Given the description of an element on the screen output the (x, y) to click on. 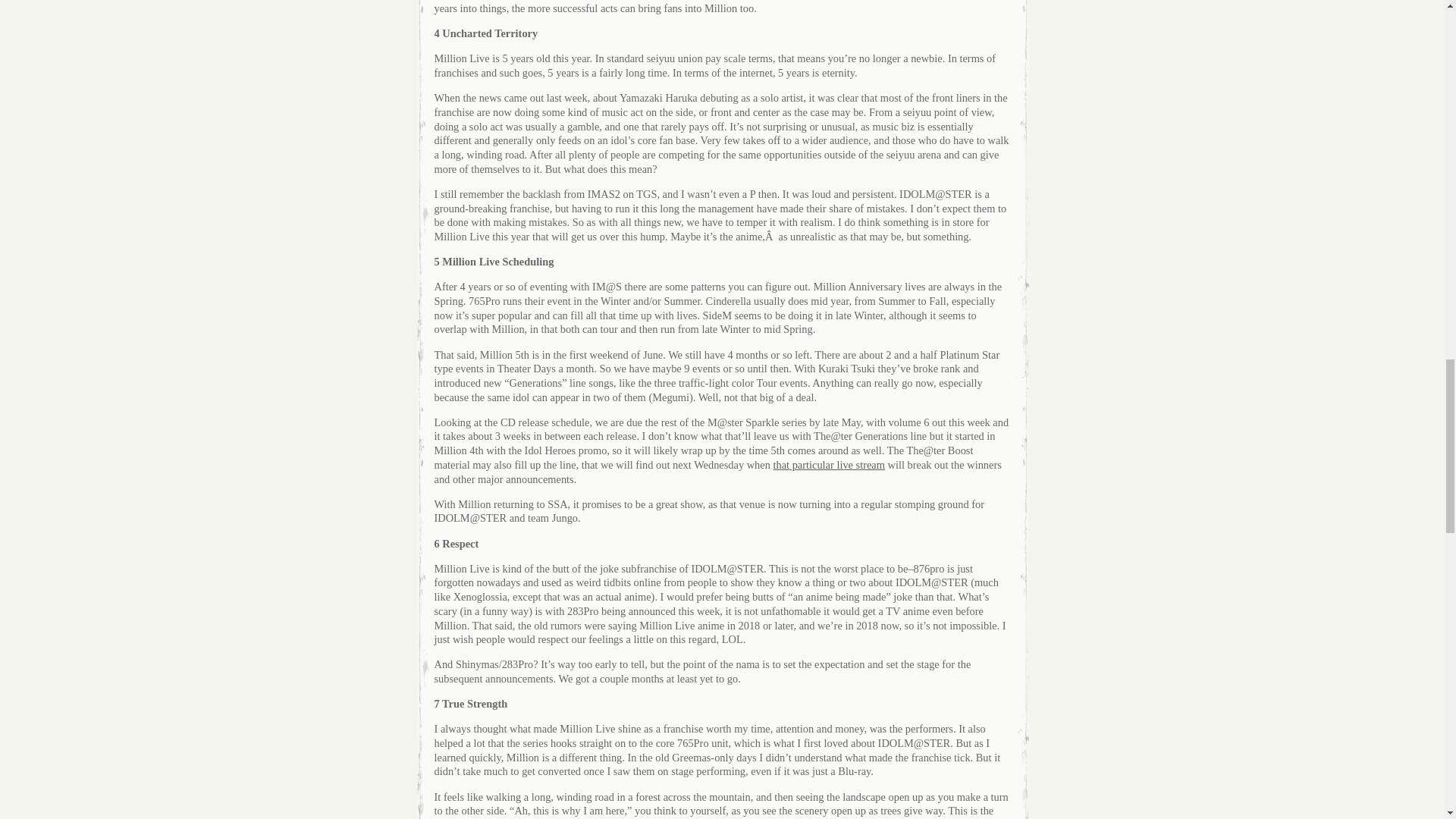
that particular live stream (828, 464)
